Given the description of an element on the screen output the (x, y) to click on. 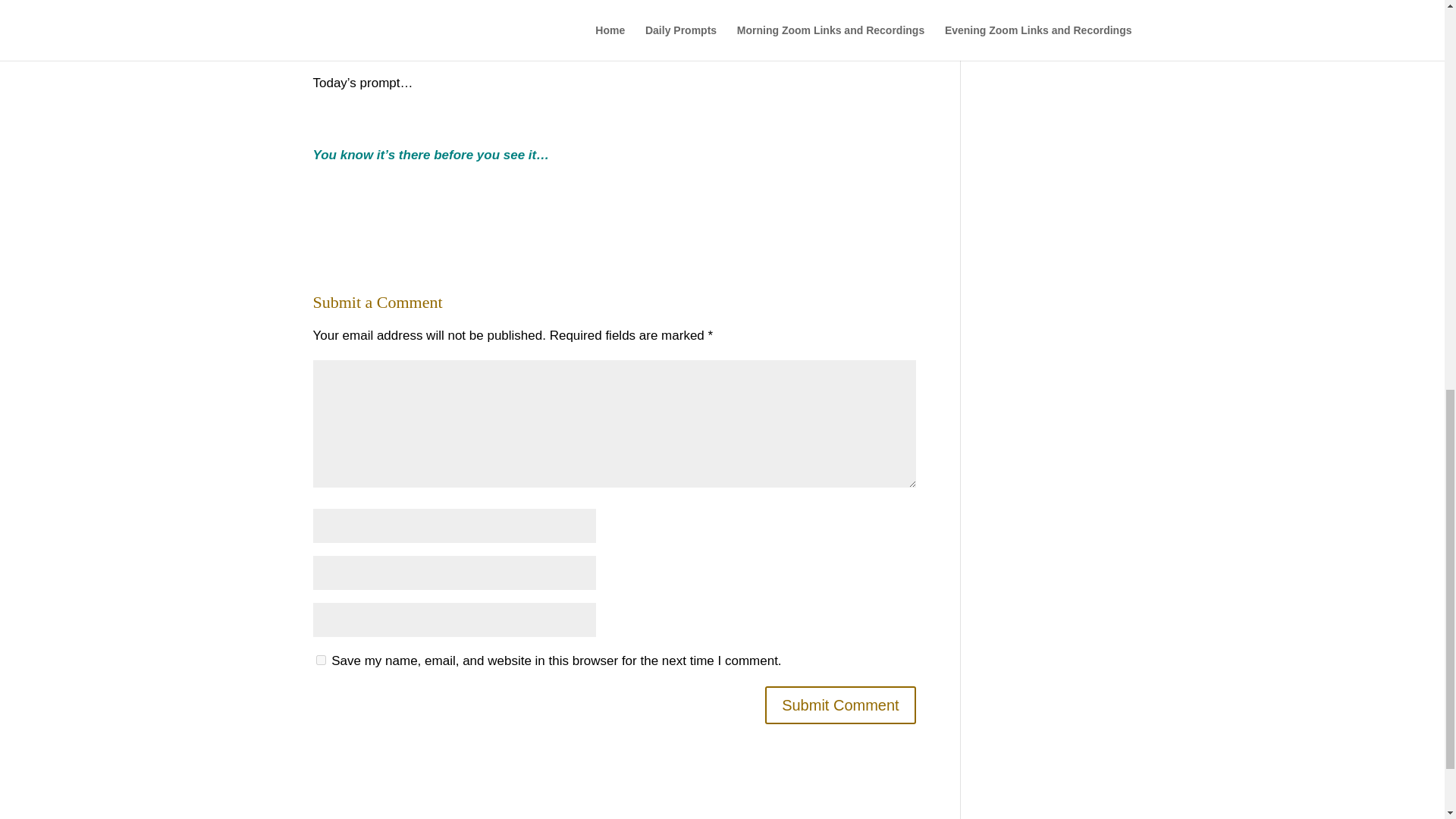
Submit Comment (840, 704)
Submit Comment (840, 704)
yes (319, 660)
